Given the description of an element on the screen output the (x, y) to click on. 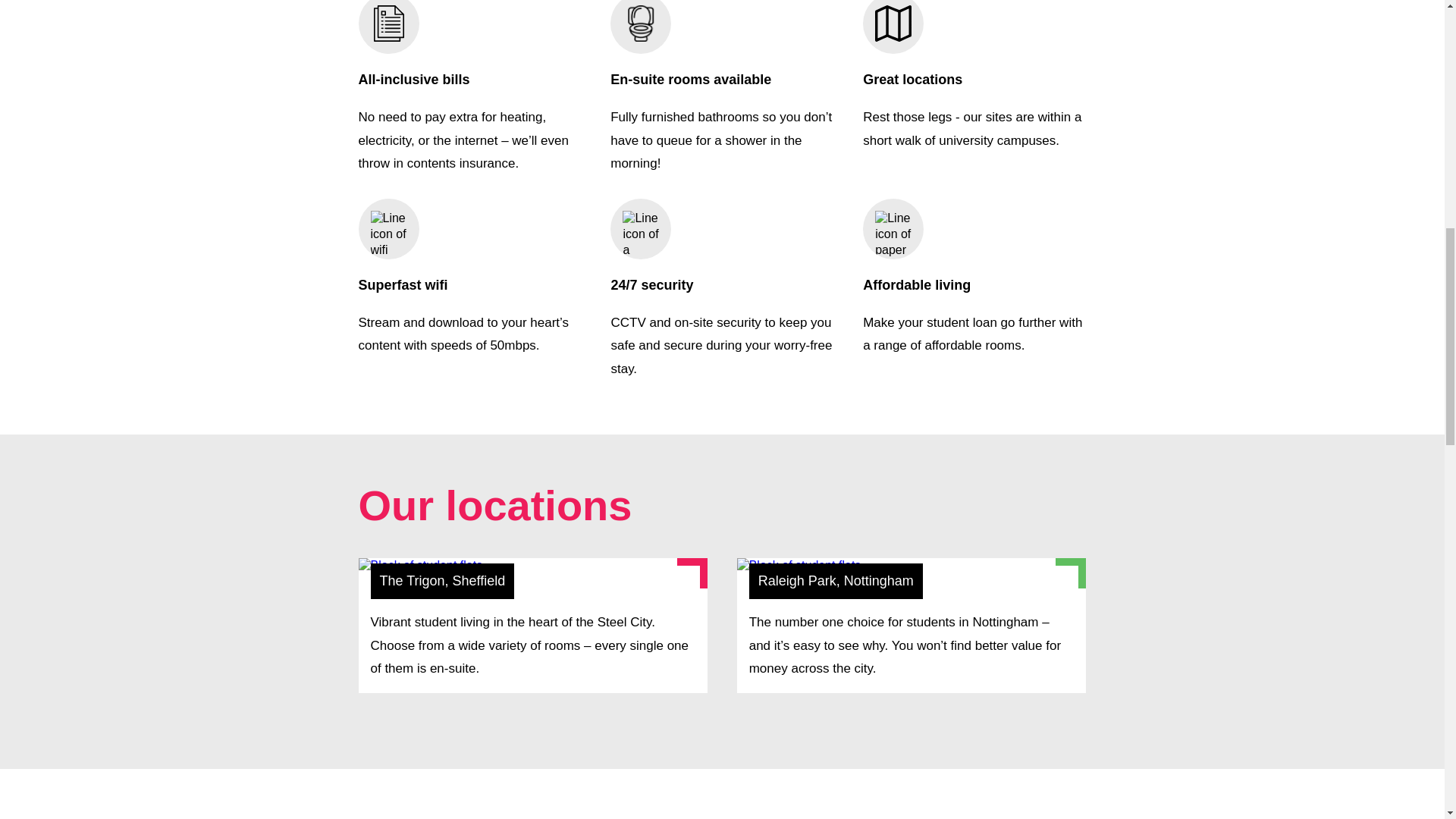
Raleigh Park, Nottingham (911, 624)
The Trigon, Sheffield (532, 624)
